Given the description of an element on the screen output the (x, y) to click on. 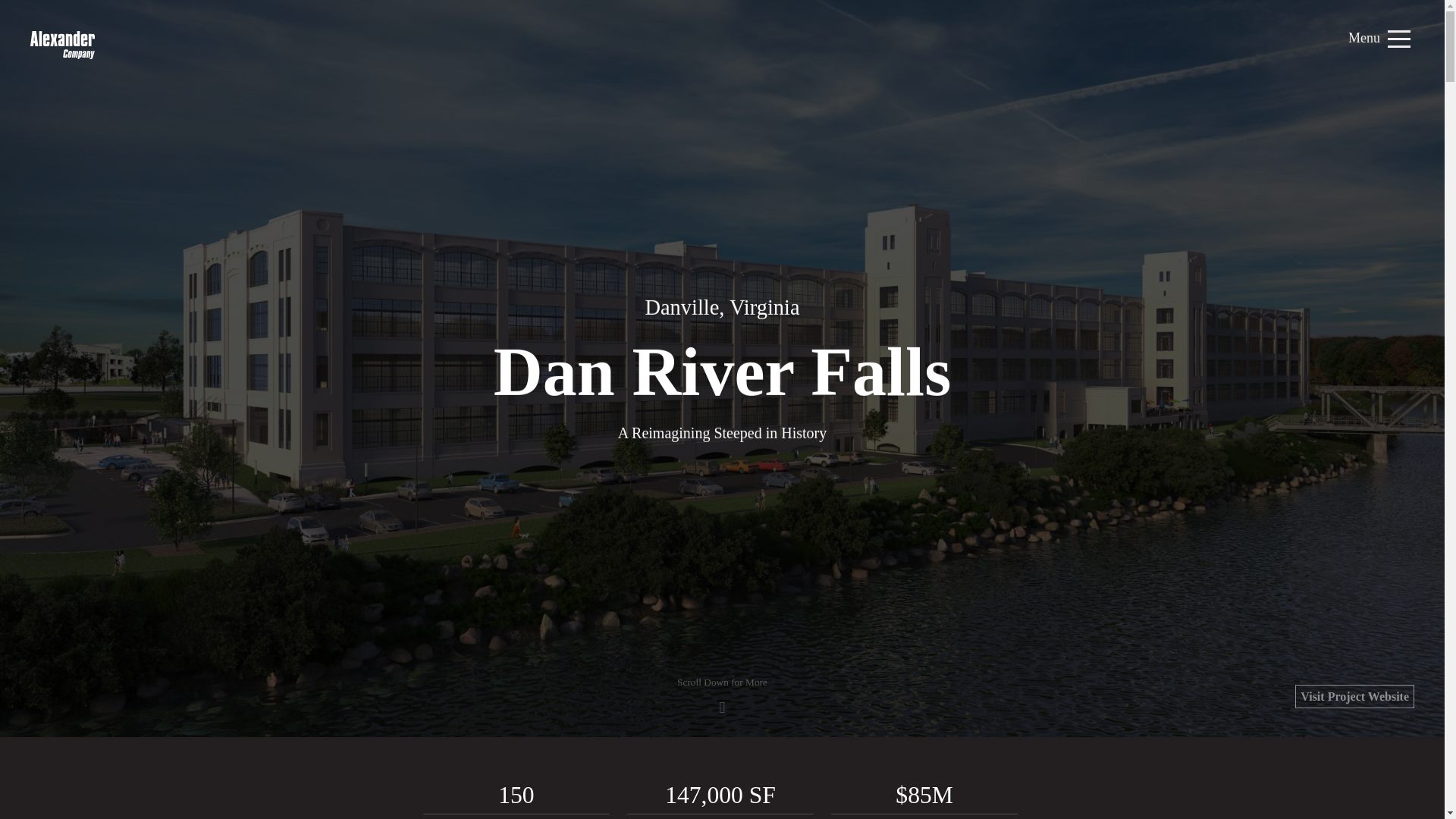
Visit Project Website (1354, 696)
Scroll Down for More (722, 694)
